Given the description of an element on the screen output the (x, y) to click on. 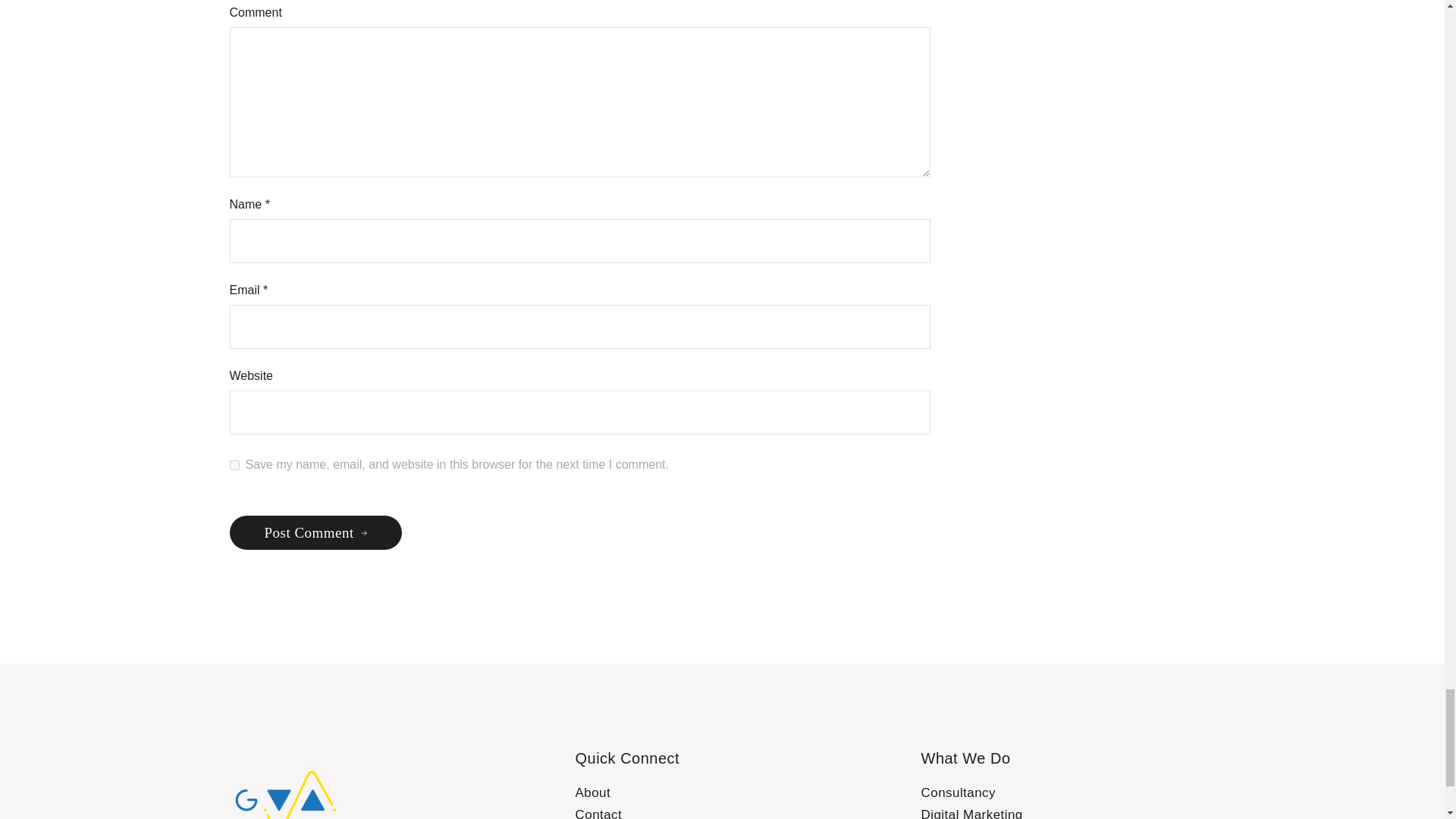
Digital Marketing (971, 813)
Consultancy (957, 792)
About (592, 792)
Post Comment (314, 532)
Contact (598, 813)
